Given the description of an element on the screen output the (x, y) to click on. 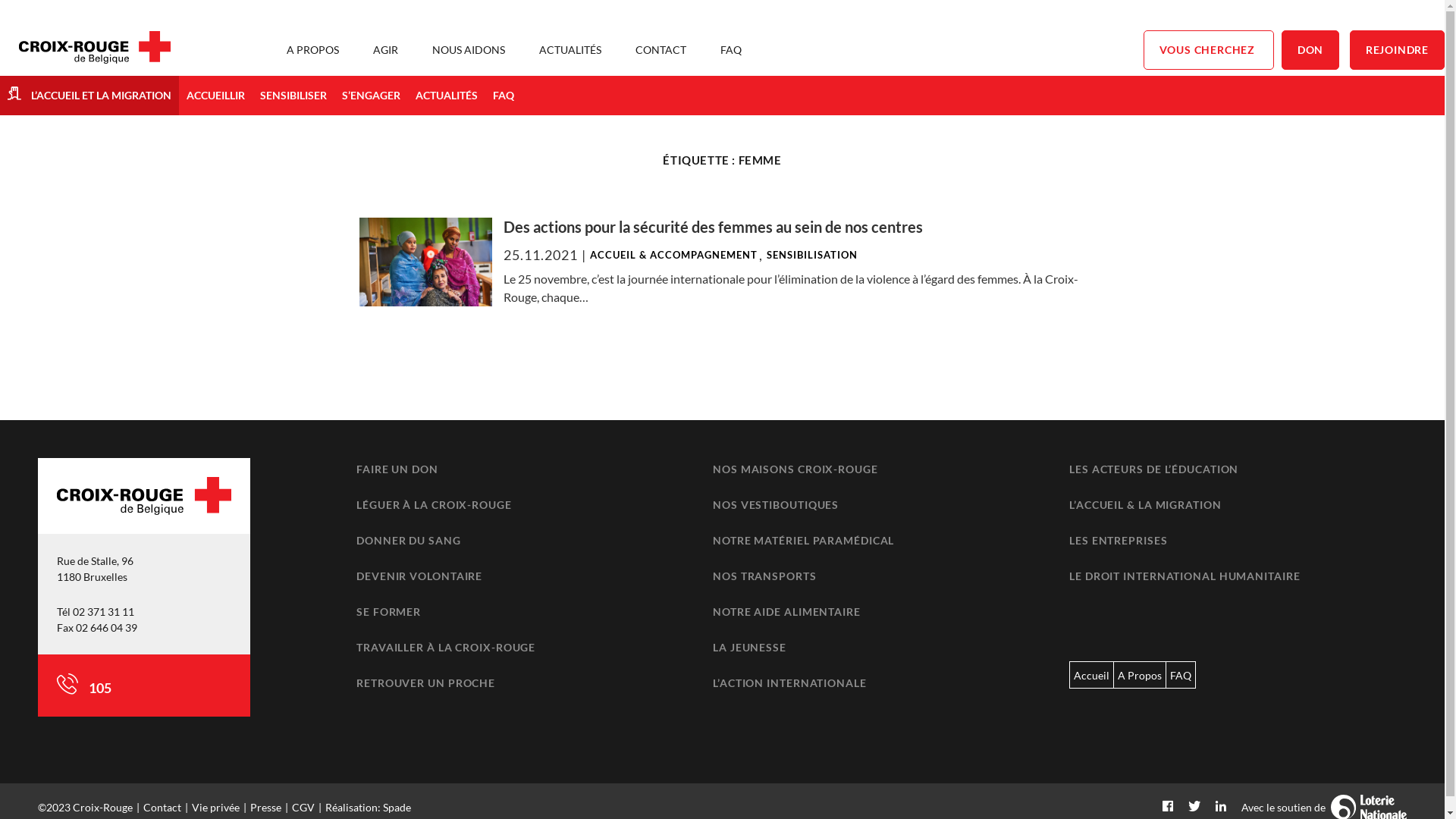
Accueil Element type: text (1091, 674)
ACCUEIL & ACCOMPAGNEMENT Element type: text (673, 254)
LA JEUNESSE Element type: text (749, 646)
FAIRE UN DON Element type: text (397, 468)
A Propos Element type: text (1139, 674)
A PROPOS Element type: text (312, 49)
CGV Element type: text (302, 807)
105 Element type: text (98, 687)
FAQ Element type: text (730, 49)
SENSIBILISATION Element type: text (811, 254)
NOUS AIDONS Element type: text (468, 49)
CONTACT Element type: text (660, 49)
NOS VESTIBOUTIQUES Element type: text (775, 504)
SENSIBILISER Element type: text (293, 95)
NOS MAISONS CROIX-ROUGE Element type: text (795, 468)
Presse Element type: text (265, 807)
AGIR Element type: text (385, 49)
NOS TRANSPORTS Element type: text (764, 575)
NOTRE AIDE ALIMENTAIRE Element type: text (786, 611)
DONNER DU SANG Element type: text (408, 539)
DEVENIR VOLONTAIRE Element type: text (419, 575)
REJOINDRE Element type: text (1396, 49)
FAQ Element type: text (1180, 674)
VOUS CHERCHEZ Element type: text (1208, 49)
FAQ Element type: text (503, 95)
Contact Element type: text (162, 807)
RETROUVER UN PROCHE Element type: text (425, 682)
DON Element type: text (1310, 49)
Spade Element type: text (396, 807)
SE FORMER Element type: text (388, 611)
ACCUEILLIR Element type: text (215, 95)
LE DROIT INTERNATIONAL HUMANITAIRE Element type: text (1184, 575)
LES ENTREPRISES Element type: text (1118, 539)
